Given the description of an element on the screen output the (x, y) to click on. 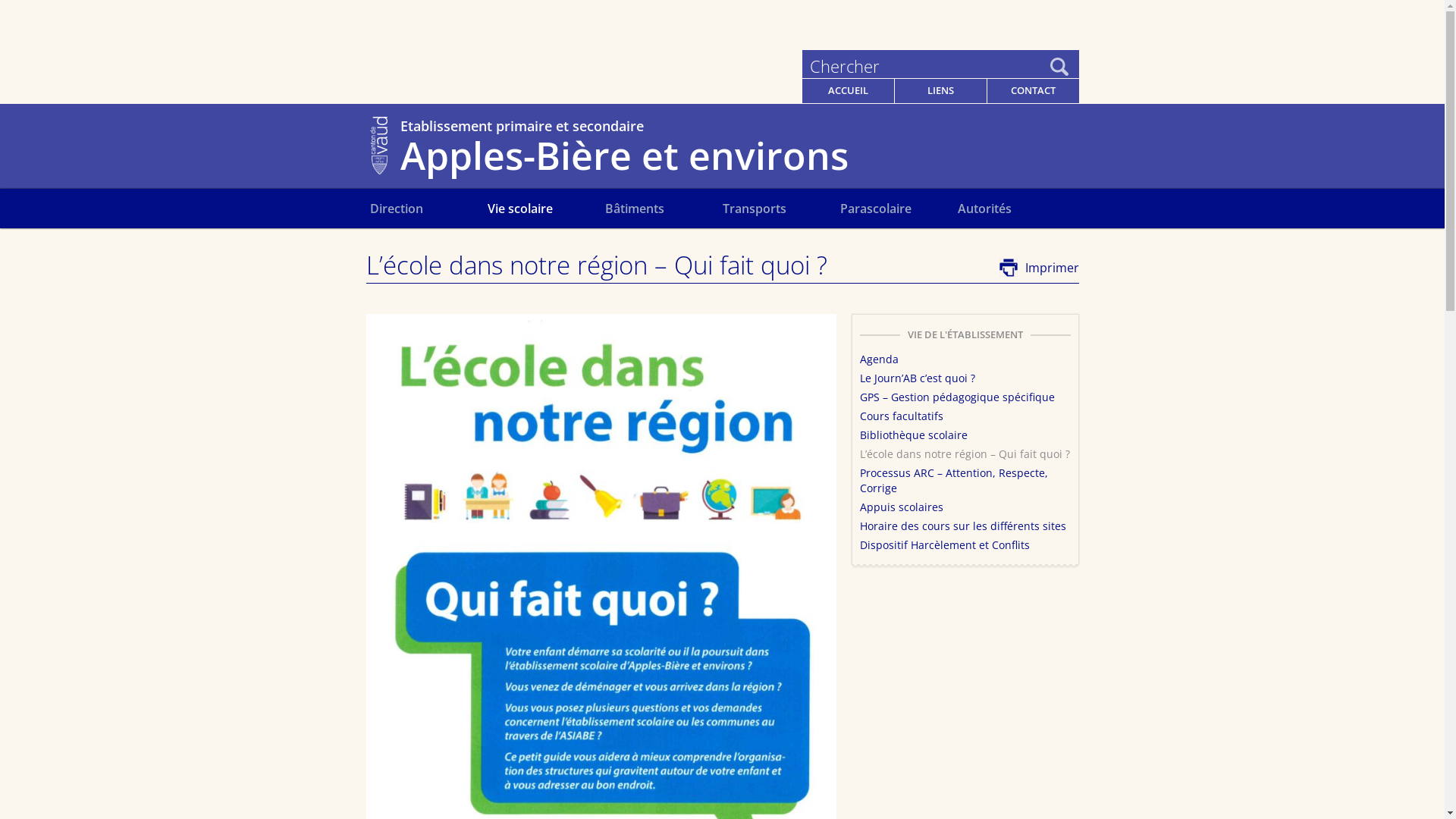
Chercher Element type: text (926, 66)
Transports Element type: text (780, 208)
LIENS Element type: text (940, 90)
Direction Element type: text (428, 208)
Imprimer Element type: text (1039, 267)
Parascolaire Element type: text (898, 208)
Agenda Element type: text (878, 358)
ACCUEIL Element type: text (848, 90)
Vie scolaire Element type: text (545, 208)
Appuis scolaires Element type: text (901, 506)
CONTACT Element type: text (1033, 90)
Cours facultatifs Element type: text (901, 415)
